Given the description of an element on the screen output the (x, y) to click on. 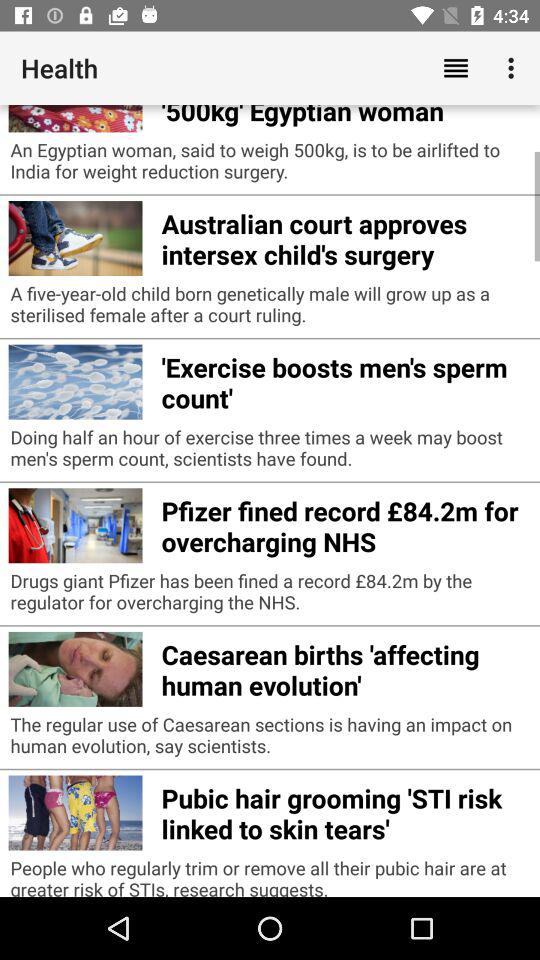
select the the regular use (270, 740)
